Given the description of an element on the screen output the (x, y) to click on. 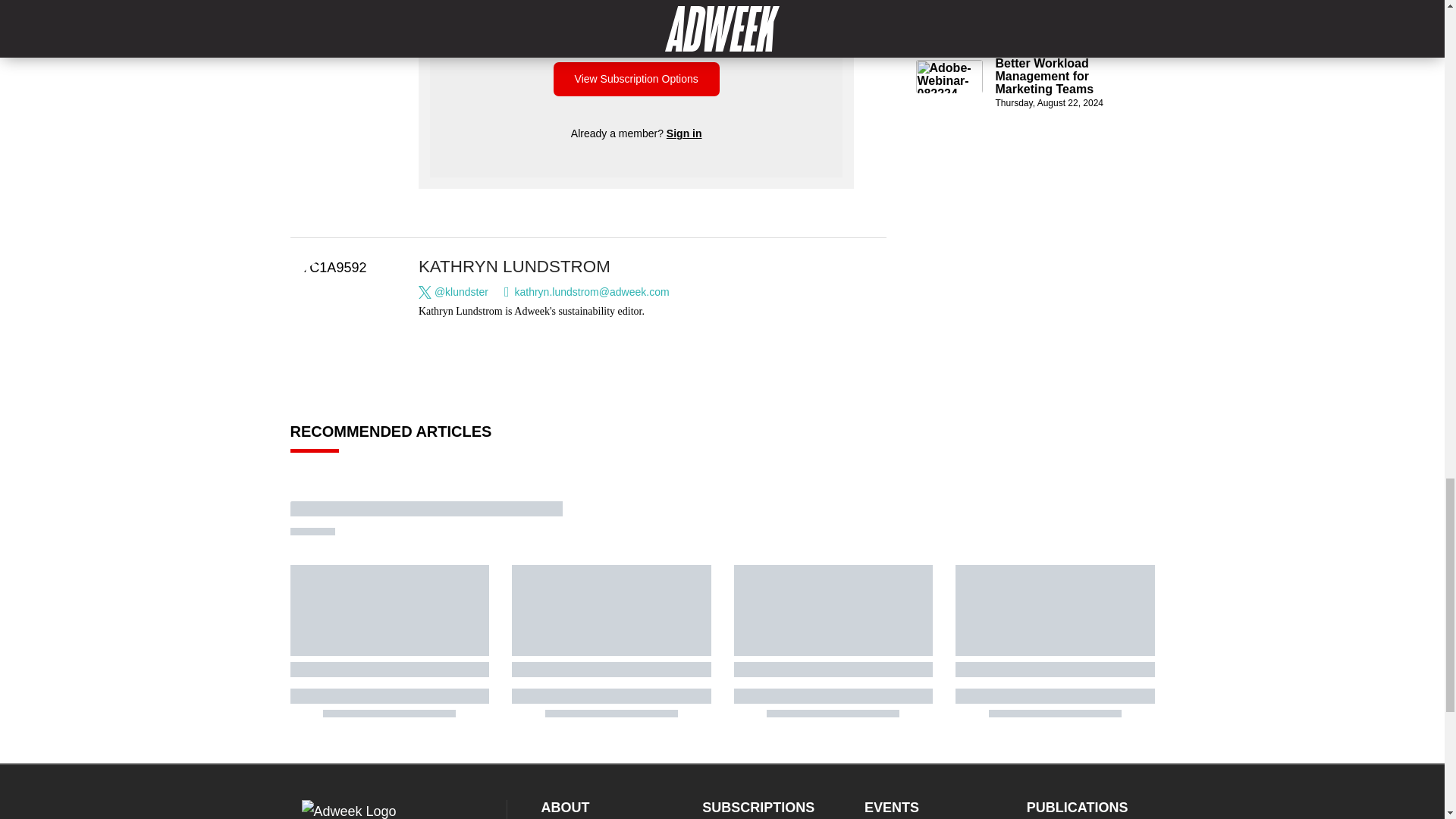
KATHRYN LUNDSTROM (514, 266)
7C1A9592 (339, 306)
View Subscription Options (636, 79)
Sign in (683, 133)
Nativo-Webinar-082124-Header (948, 14)
Adobe-Webinar-082224-Header (948, 76)
